Given the description of an element on the screen output the (x, y) to click on. 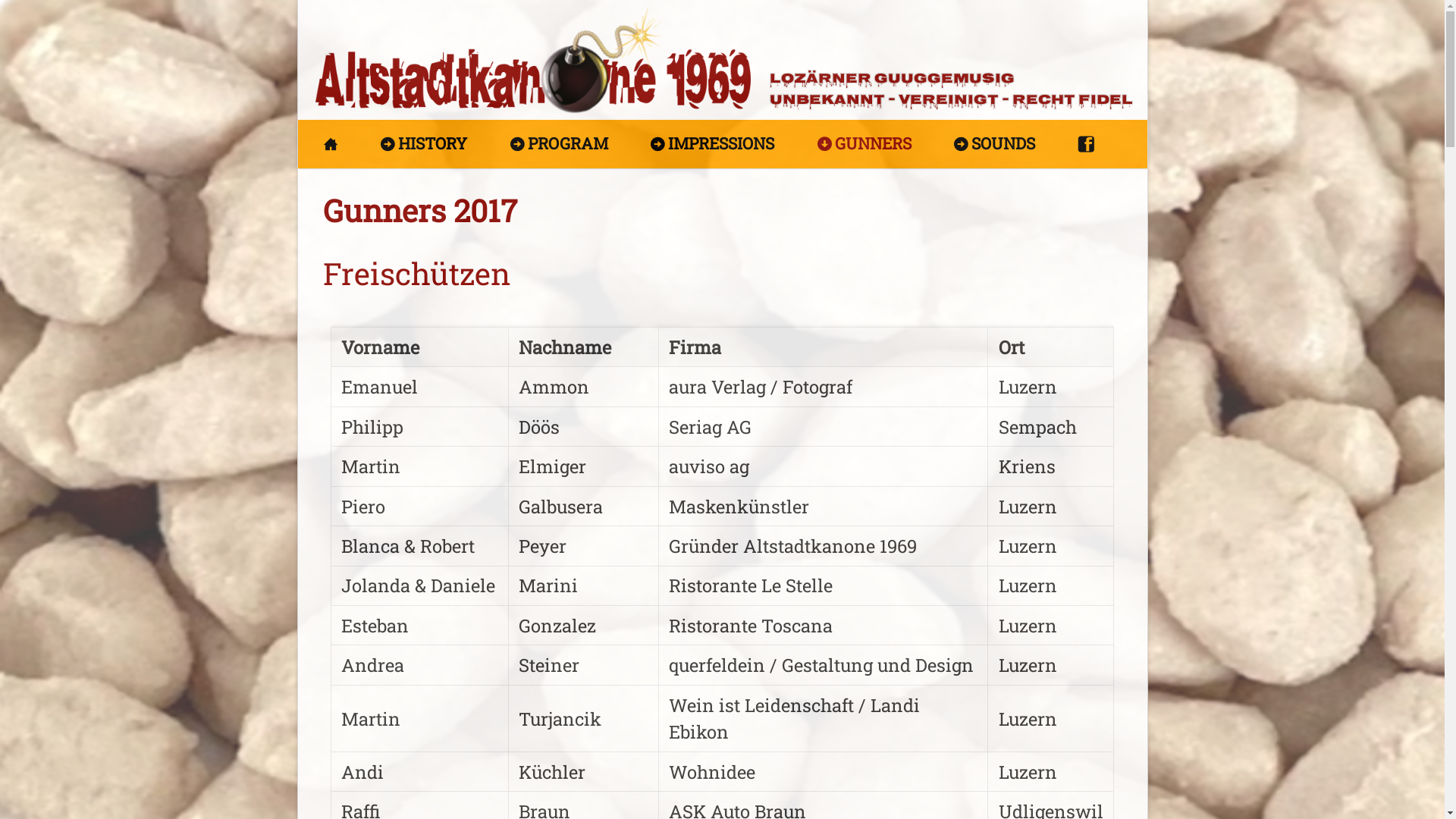
HOME Element type: text (330, 143)
IMPRESSIONS Element type: text (712, 143)
HISTORY Element type: text (424, 143)
GUNNERS Element type: text (864, 143)
SOUNDS Element type: text (994, 143)
FACEBOOK Element type: text (1085, 144)
PROGRAM Element type: text (558, 143)
